Given the description of an element on the screen output the (x, y) to click on. 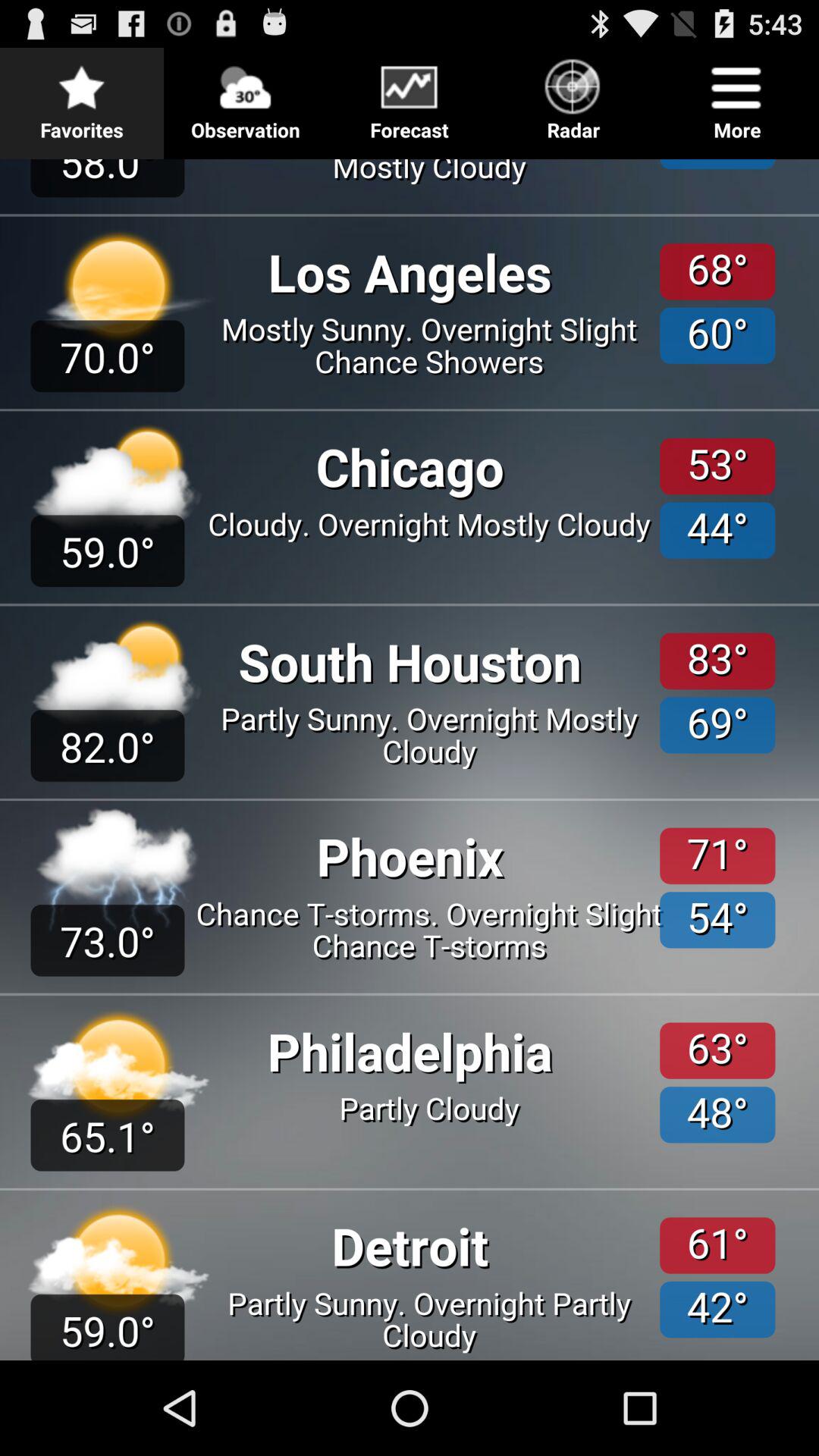
turn off the icon next to favorites icon (245, 95)
